Given the description of an element on the screen output the (x, y) to click on. 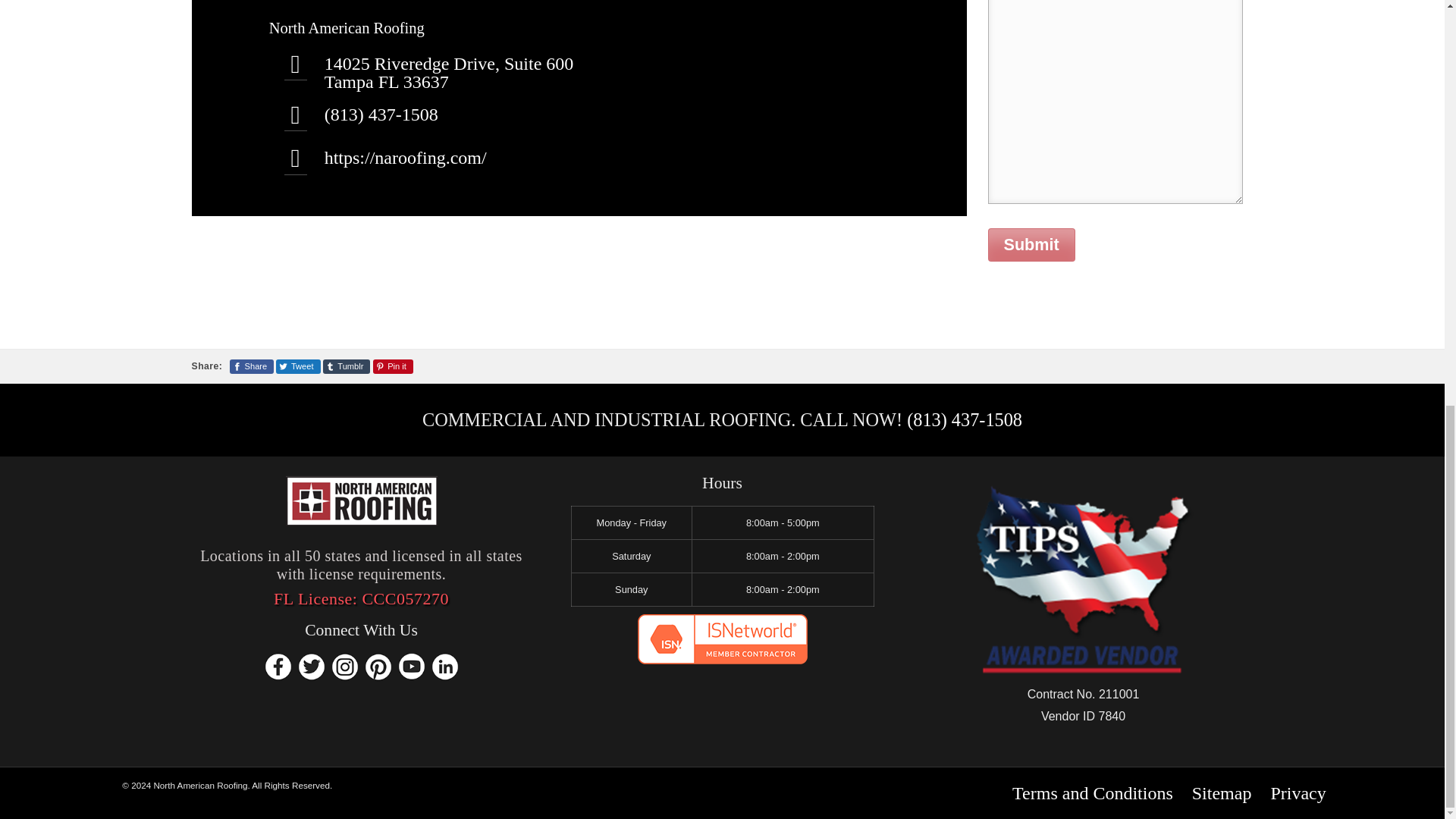
LinkedIn (444, 666)
Pinterest (377, 666)
Twitter (310, 666)
Commercial Roofing Company by North American Roofing (405, 157)
Submit (1030, 244)
Instagram (344, 666)
YouTube (411, 666)
Facebook (277, 666)
